Given the description of an element on the screen output the (x, y) to click on. 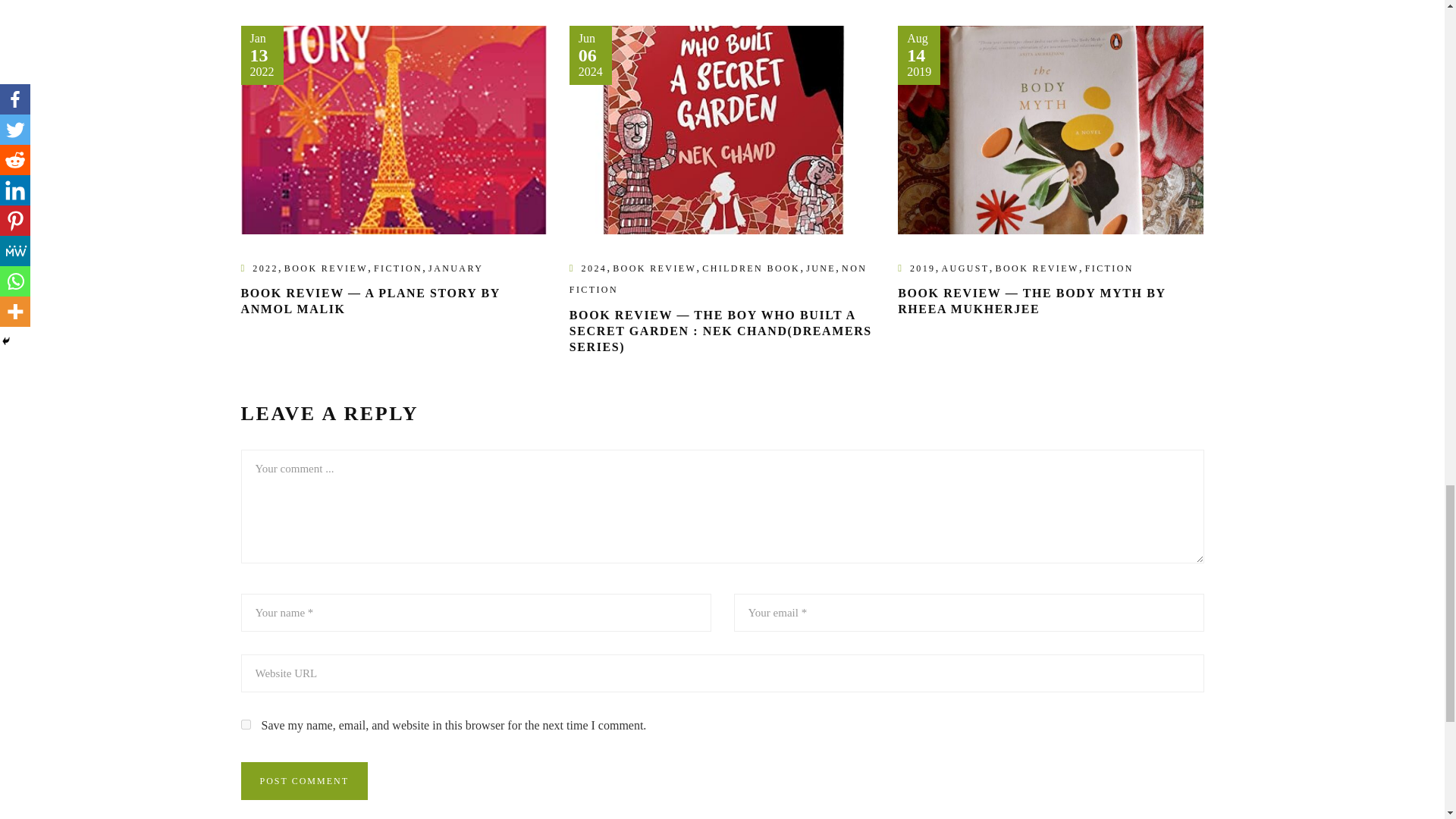
NON FICTION (717, 278)
2022 (264, 267)
yes (245, 724)
JUNE (820, 267)
BOOK REVIEW (325, 267)
JANUARY (455, 267)
FICTION (398, 267)
BOOK REVIEW (653, 267)
Post Comment (304, 781)
CHILDREN BOOK (750, 267)
